Given the description of an element on the screen output the (x, y) to click on. 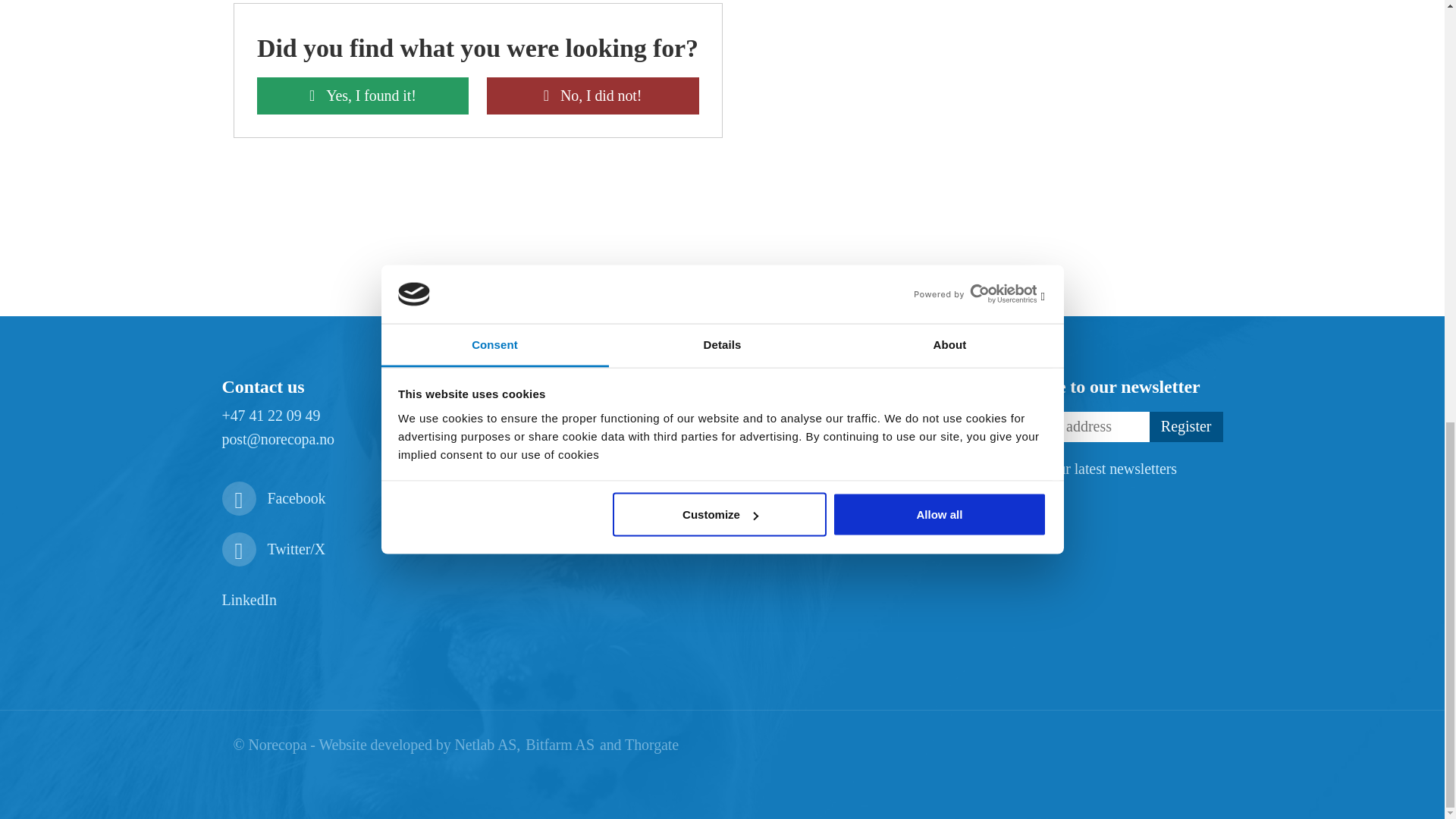
Subscribe (1186, 426)
